Given the description of an element on the screen output the (x, y) to click on. 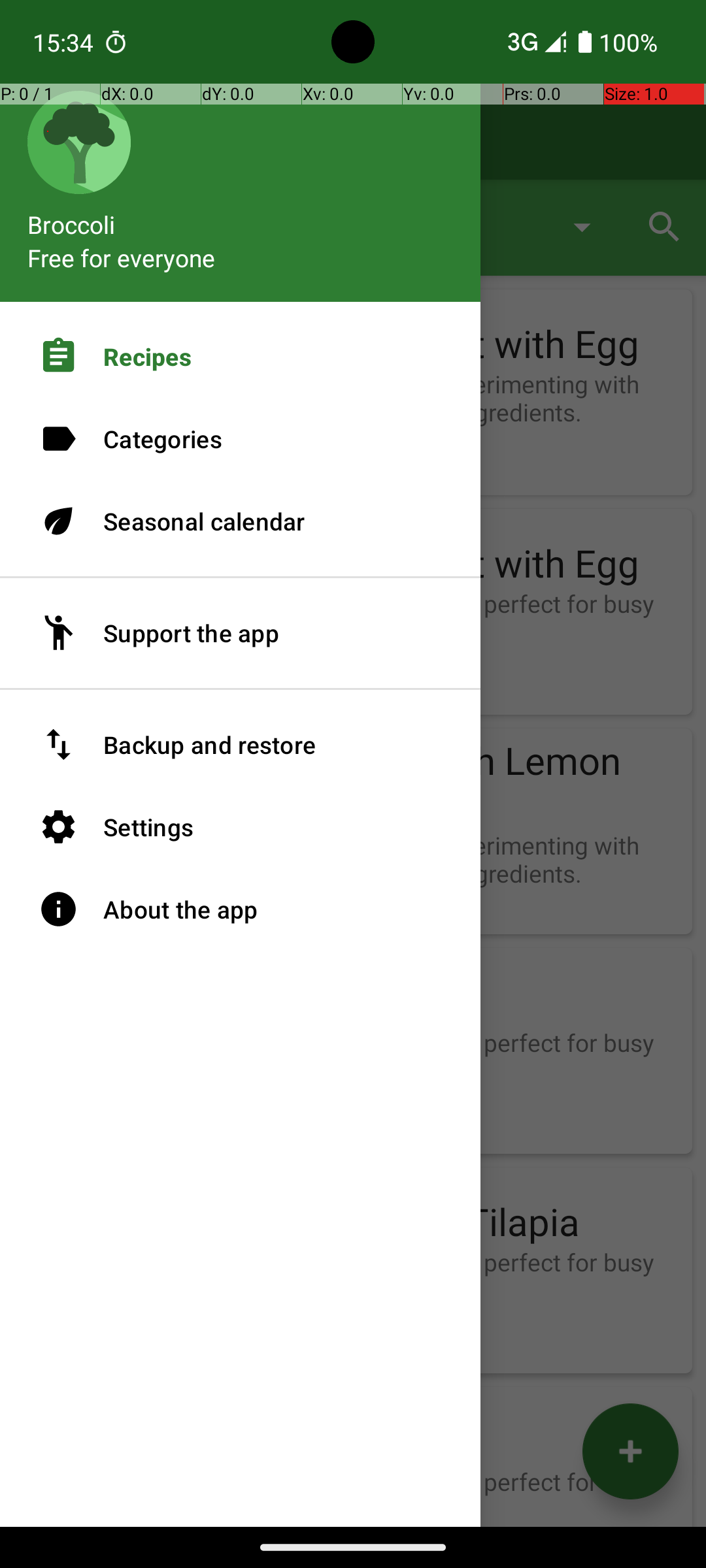
Broccoli Element type: android.widget.TextView (240, 217)
Free for everyone Element type: android.widget.TextView (121, 257)
Seasonal calendar Element type: android.widget.CheckedTextView (239, 521)
Support the app Element type: android.widget.CheckedTextView (239, 632)
Backup and restore Element type: android.widget.CheckedTextView (239, 744)
About the app Element type: android.widget.CheckedTextView (239, 909)
